Given the description of an element on the screen output the (x, y) to click on. 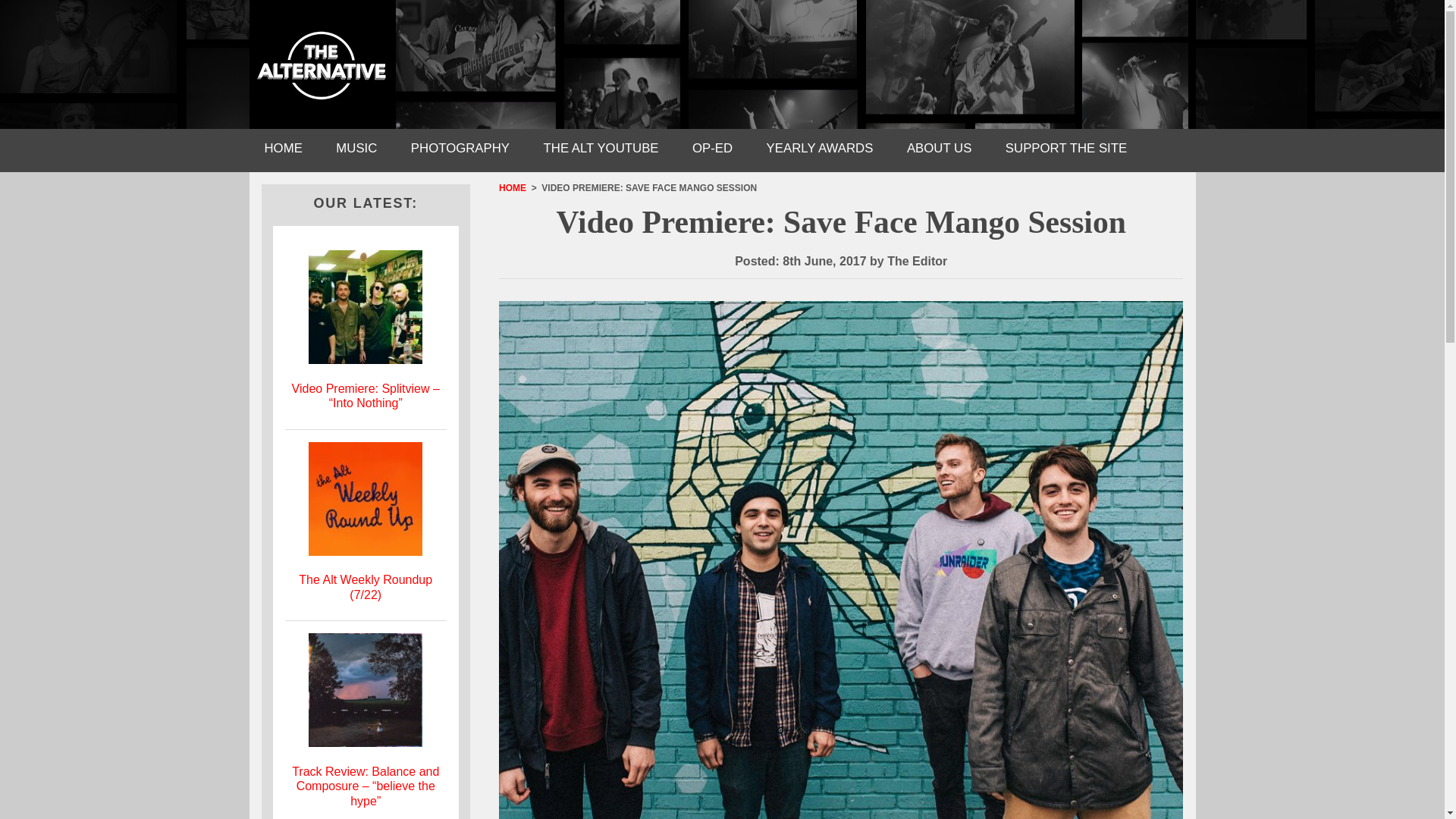
THE ALT YOUTUBE (601, 149)
HOME (512, 187)
YEARLY AWARDS (819, 149)
ABOUT US (939, 149)
MUSIC (355, 149)
HOME (282, 149)
SUPPORT THE SITE (1065, 149)
PHOTOGRAPHY (460, 149)
OP-ED (712, 149)
